Given the description of an element on the screen output the (x, y) to click on. 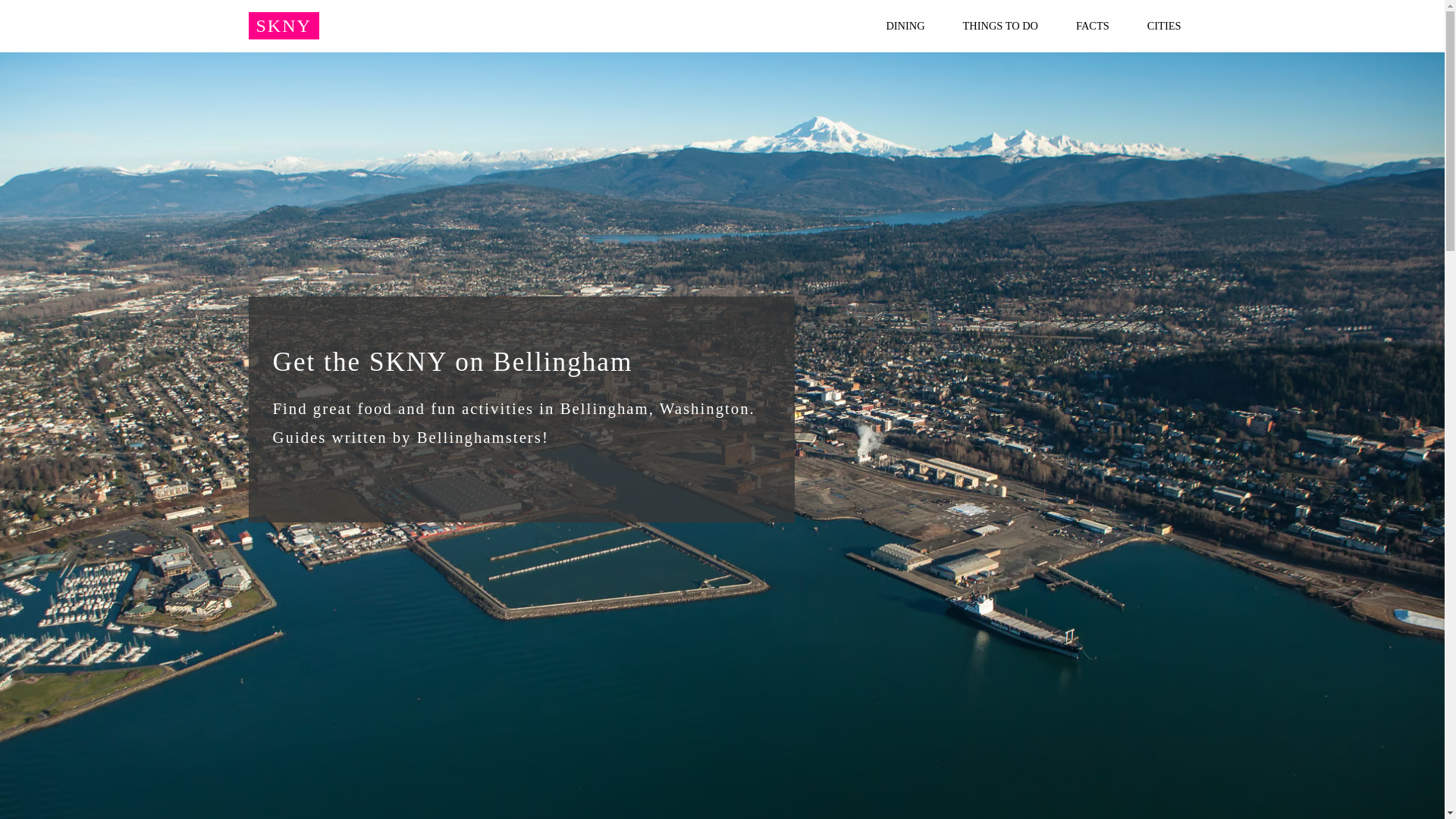
CITIES (1164, 26)
FACTS (1092, 26)
DINING (904, 26)
SKNY (283, 25)
THINGS TO DO (999, 26)
